Given the description of an element on the screen output the (x, y) to click on. 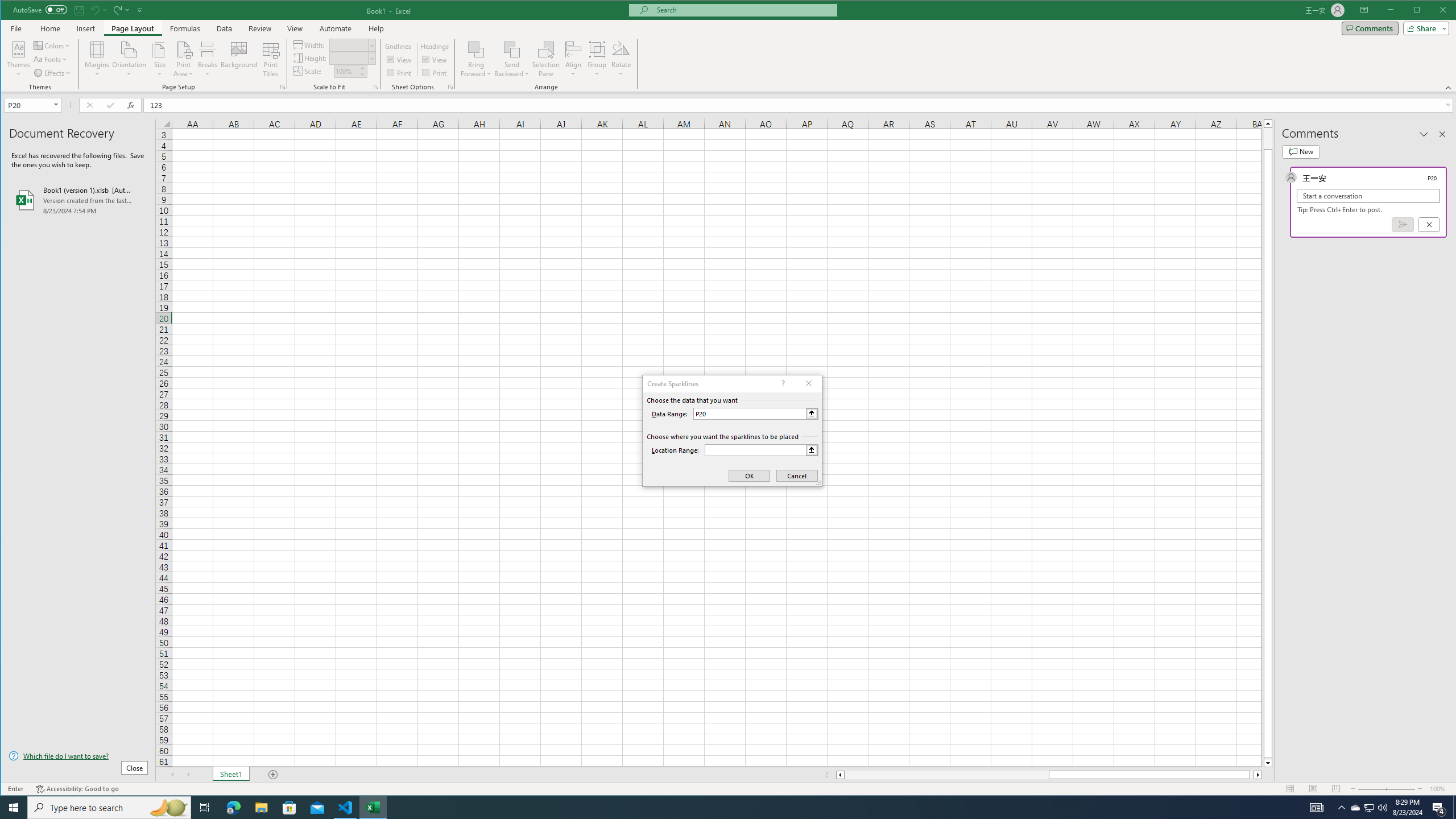
Post comment (Ctrl + Enter) (1402, 224)
Size (159, 59)
Themes (18, 59)
Margins (96, 59)
Height (349, 58)
